Given the description of an element on the screen output the (x, y) to click on. 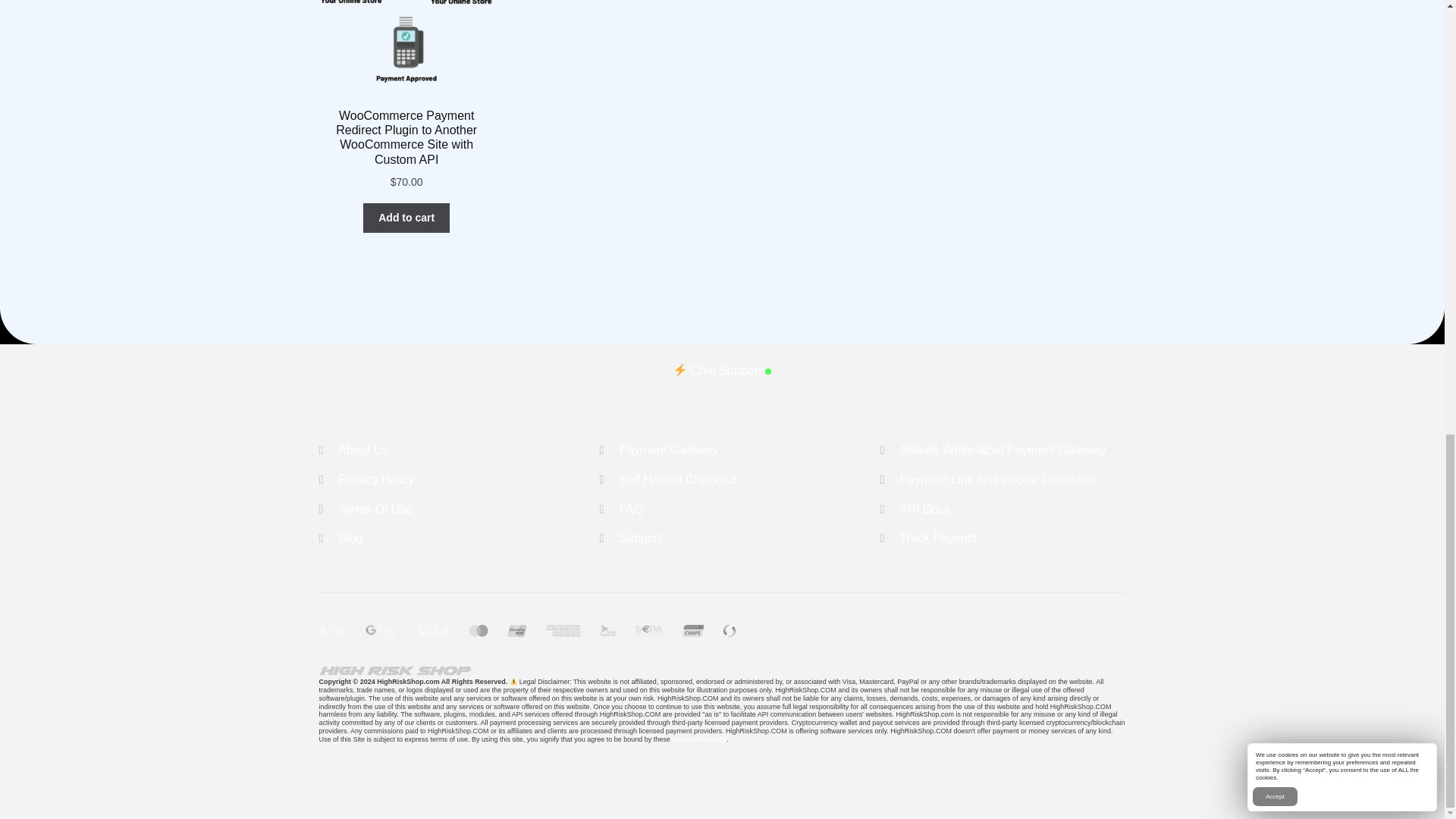
Payment Gateway (667, 449)
Support (639, 537)
Add to cart (405, 218)
Terms Of Use (374, 508)
Blog (349, 537)
Self Hosted Checkout (677, 479)
About Us (362, 449)
Privacy Policy (375, 479)
FAQ (630, 508)
Chat Support (721, 369)
